Given the description of an element on the screen output the (x, y) to click on. 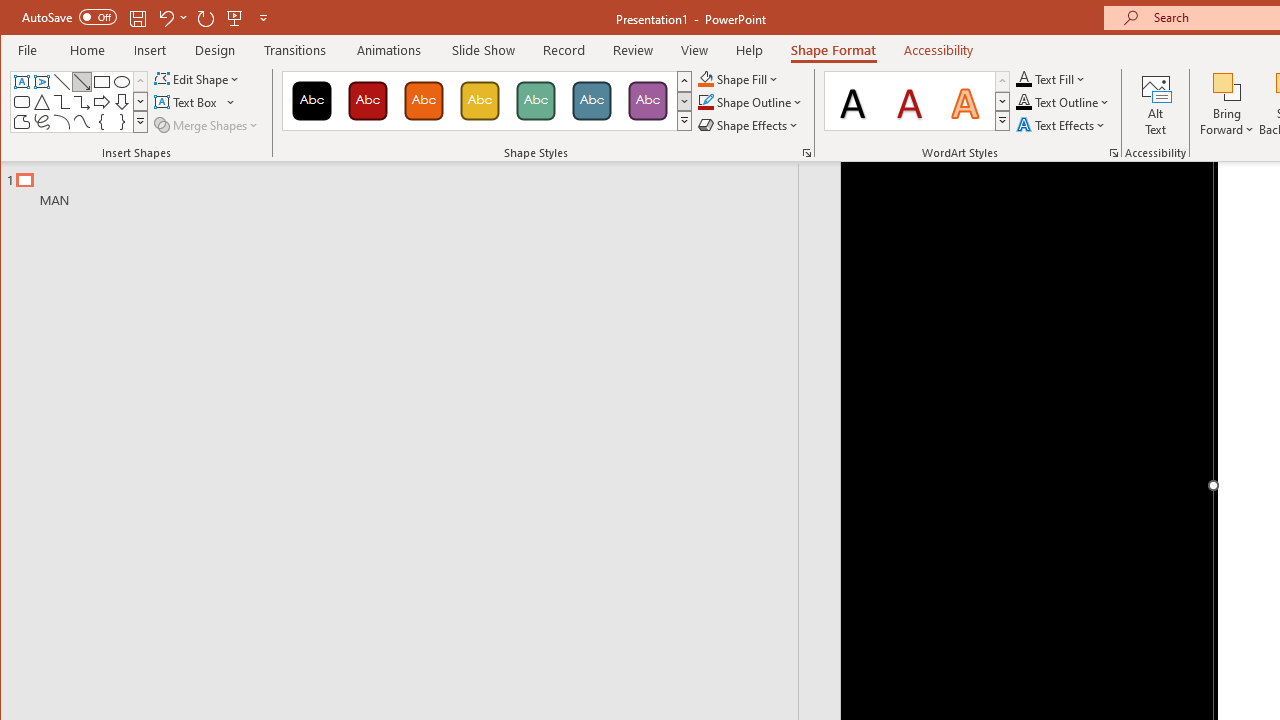
Text Box (195, 101)
AutomationID: TextStylesGallery (917, 101)
Colored Fill - Orange, Accent 2 (423, 100)
Alt Text (1156, 104)
Shape Effects (750, 124)
AutomationID: ShapesInsertGallery (79, 102)
Arrow: Down (121, 102)
Format Object... (806, 152)
Colored Fill - Green, Accent 4 (536, 100)
